Given the description of an element on the screen output the (x, y) to click on. 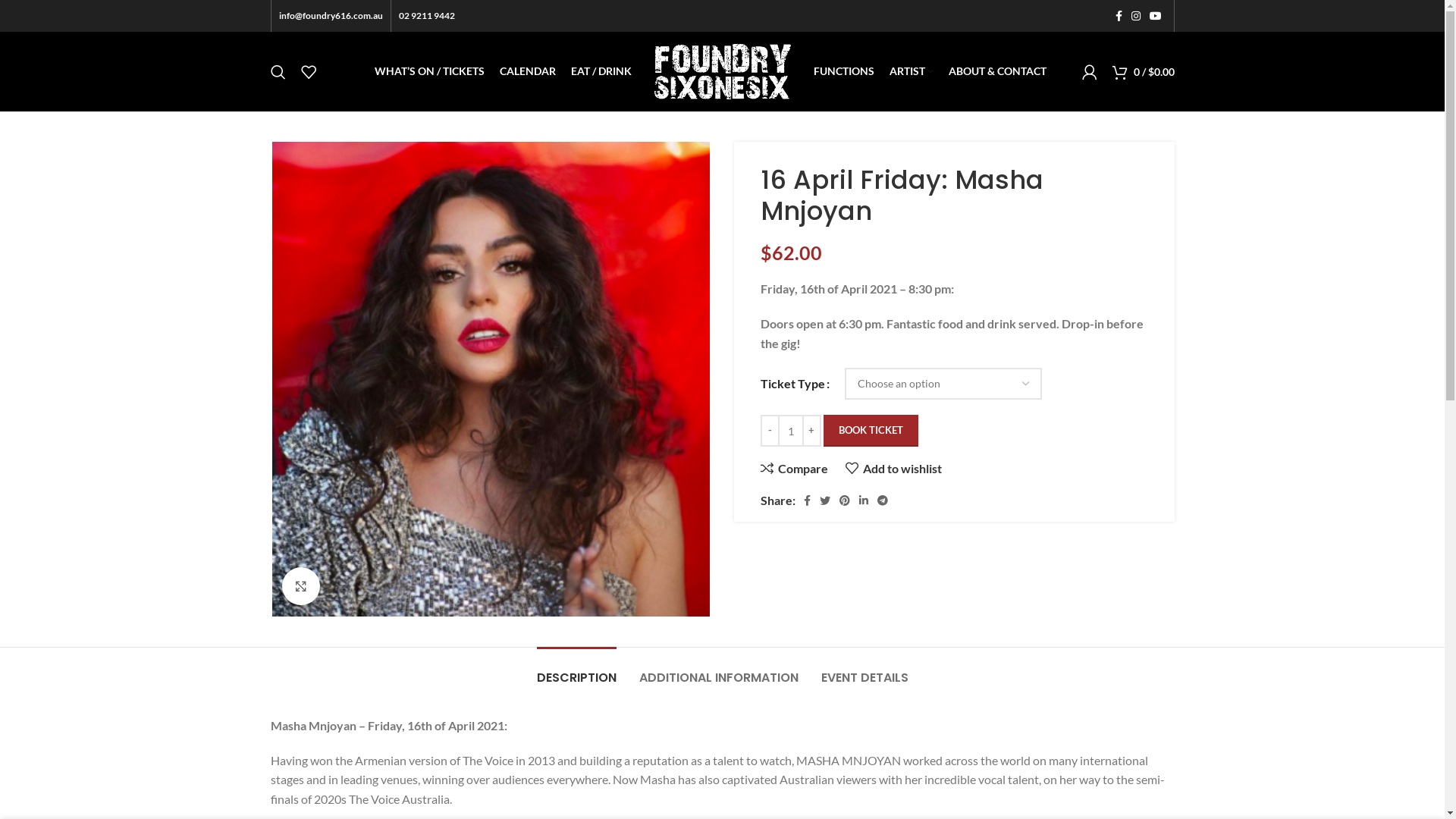
FUNCTIONS Element type: text (842, 71)
EVENT DETAILS Element type: text (863, 669)
Search Element type: hover (277, 71)
ADDITIONAL INFORMATION Element type: text (717, 669)
Compare Element type: text (793, 468)
My account Element type: hover (1088, 71)
DESCRIPTION Element type: text (576, 669)
EAT / DRINK Element type: text (600, 71)
ARTIST Element type: text (910, 71)
0 / $0.00 Element type: text (1142, 71)
BOOK TICKET Element type: text (870, 430)
Add to wishlist Element type: text (893, 468)
My Wishlist Element type: hover (307, 71)
Screen Shot 2021-01-05 at 4.19.31 pm Element type: hover (490, 378)
ABOUT & CONTACT Element type: text (996, 71)
CALENDAR Element type: text (526, 71)
